Given the description of an element on the screen output the (x, y) to click on. 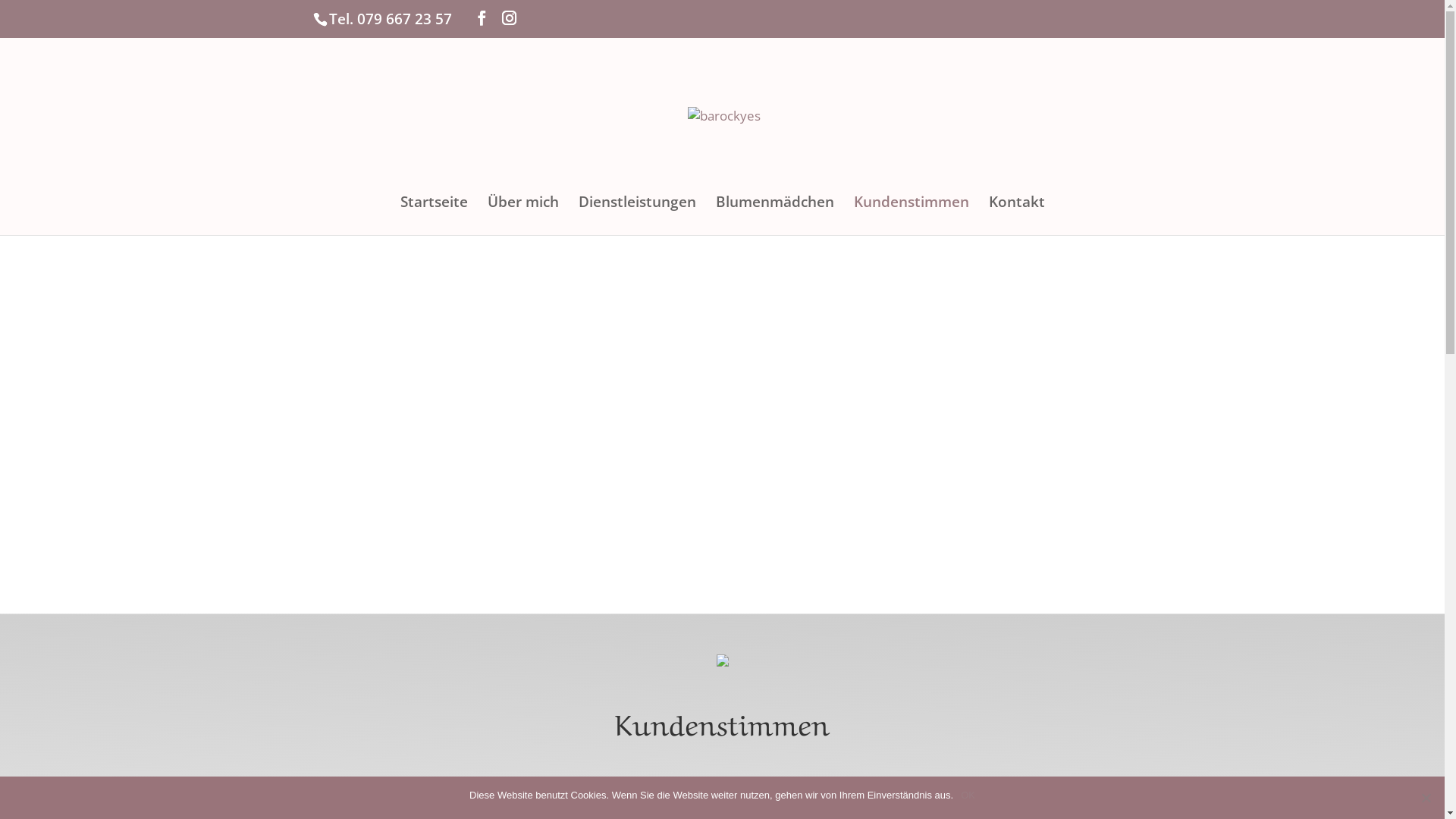
Kontakt Element type: text (1016, 214)
Dienstleistungen Element type: text (636, 214)
Startseite Element type: text (433, 214)
Kundenstimmen Element type: text (911, 214)
Nein Element type: hover (1425, 797)
OK Element type: text (967, 795)
